Given the description of an element on the screen output the (x, y) to click on. 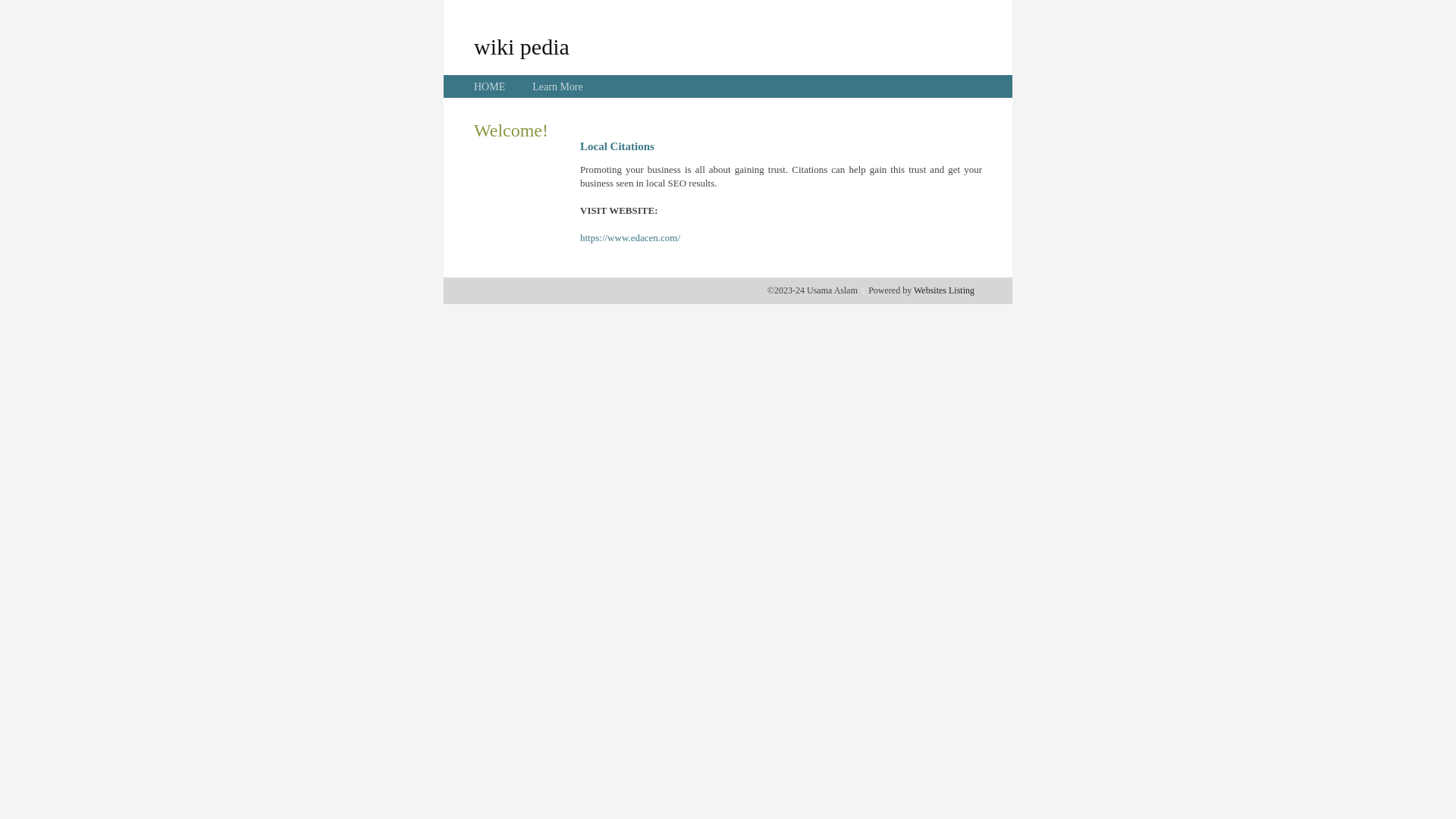
HOME Element type: text (489, 86)
https://www.edacen.com/ Element type: text (630, 237)
Learn More Element type: text (557, 86)
Websites Listing Element type: text (943, 290)
wiki pedia Element type: text (521, 46)
